Given the description of an element on the screen output the (x, y) to click on. 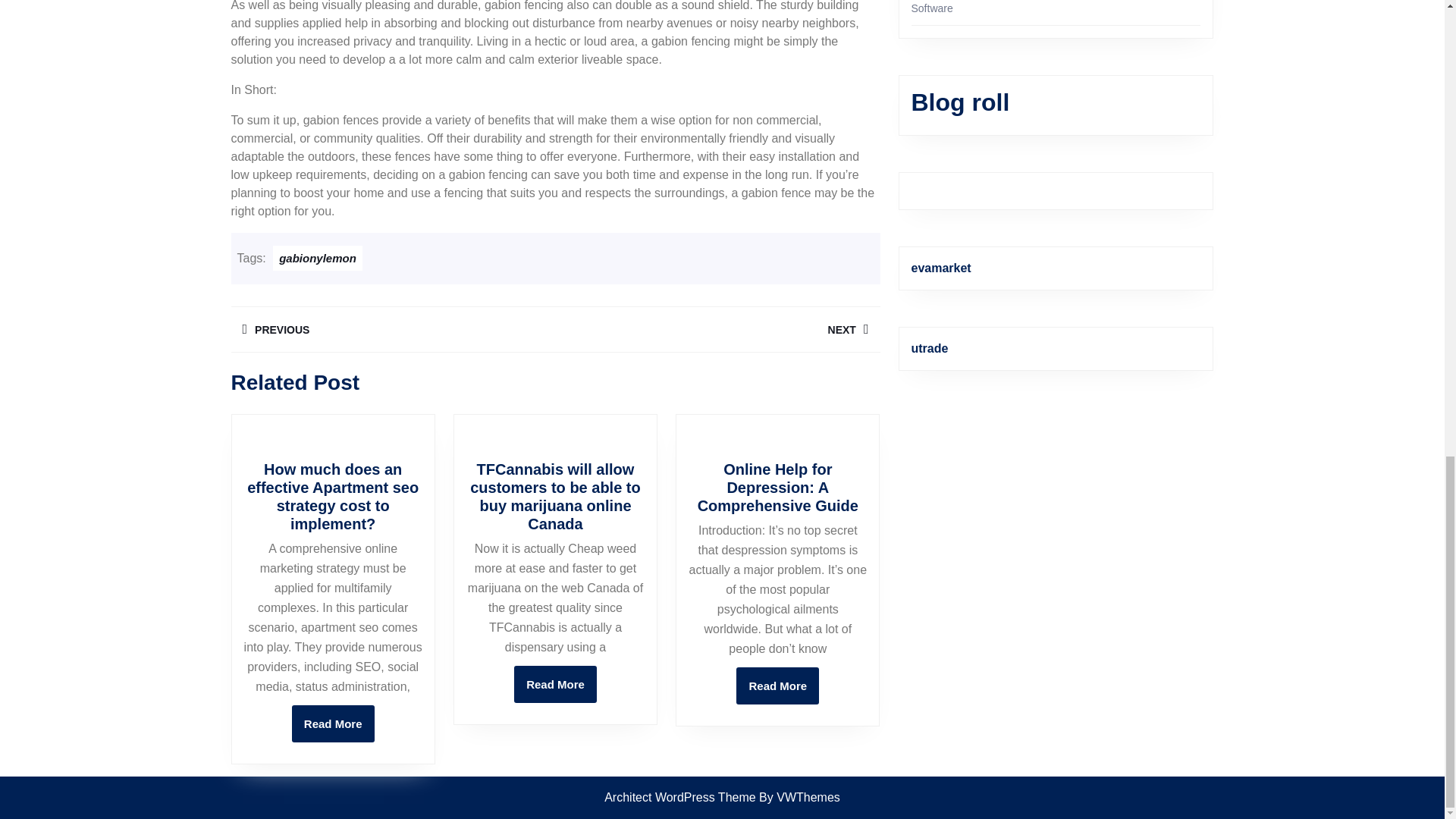
gabionylemon (777, 685)
